Given the description of an element on the screen output the (x, y) to click on. 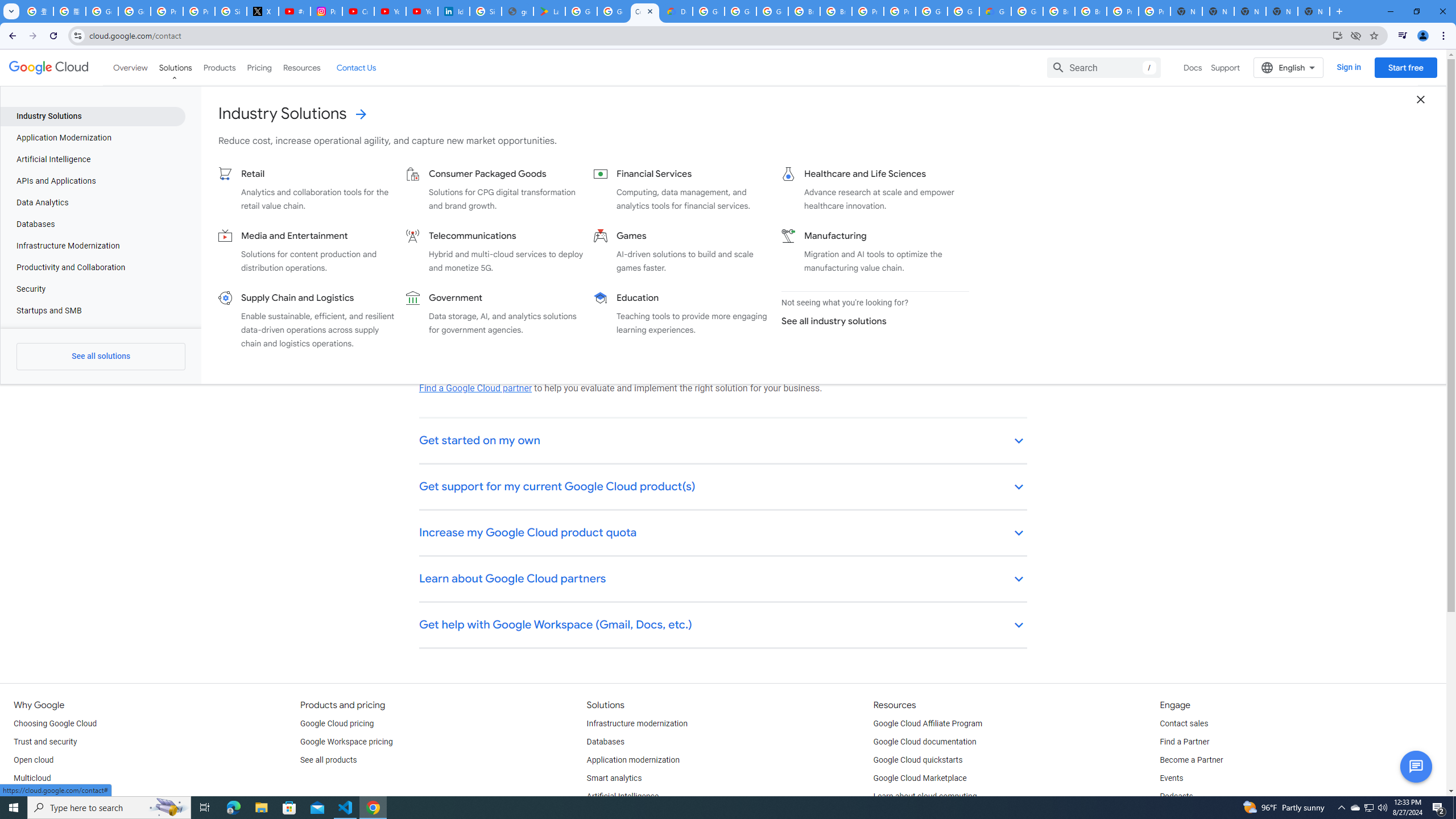
Infrastructure modernization (637, 723)
See all solutions (100, 356)
Install Google Cloud (1336, 35)
See all industry solutions (870, 321)
Google Workspace - Specific Terms (613, 11)
English (1288, 67)
